Given the description of an element on the screen output the (x, y) to click on. 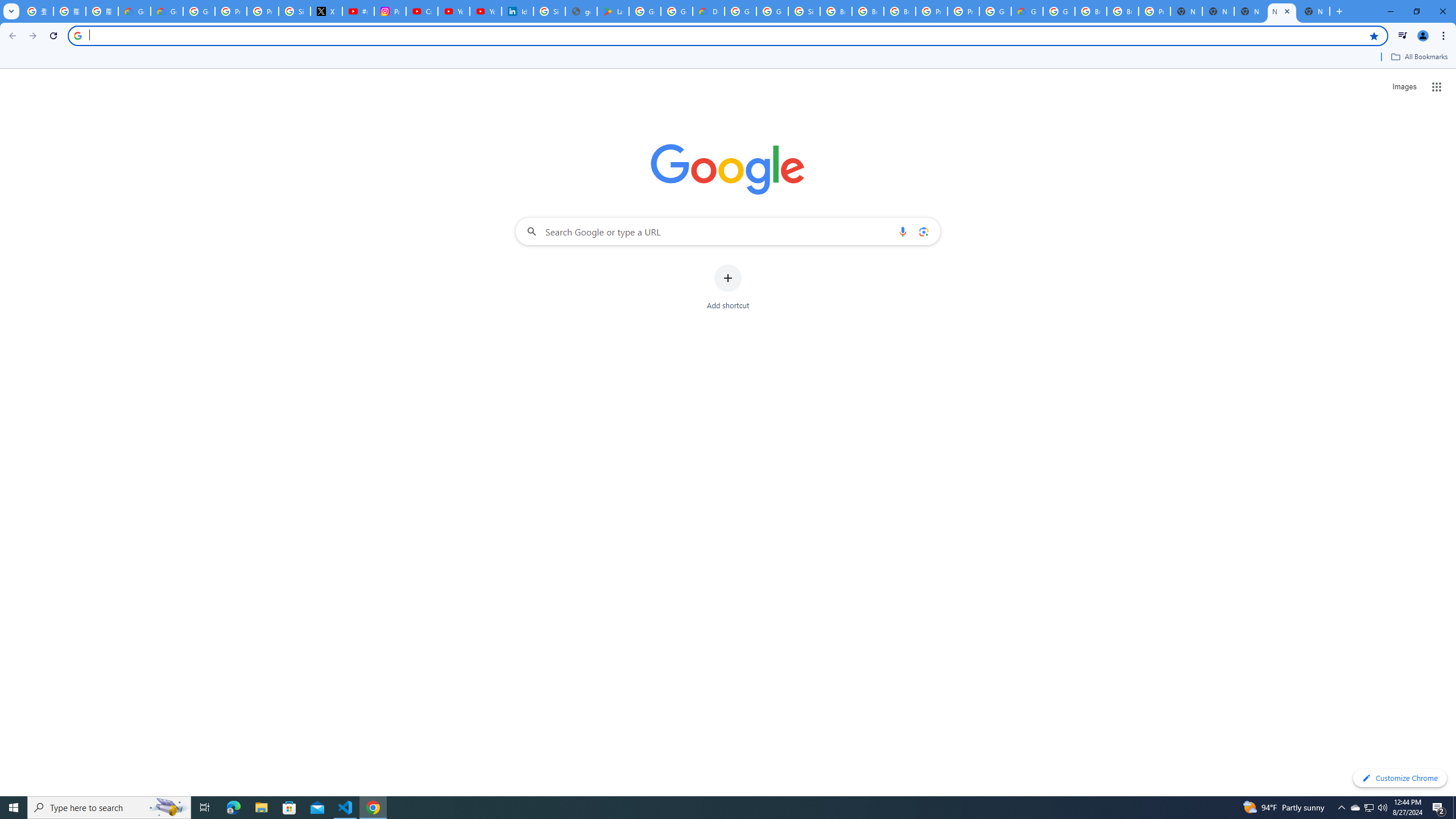
Browse Chrome as a guest - Computer - Google Chrome Help (1091, 11)
Privacy Help Center - Policies Help (262, 11)
Sign in - Google Accounts (804, 11)
Privacy Help Center - Policies Help (230, 11)
Google Cloud Platform (1059, 11)
Bookmarks (728, 58)
Google Cloud Estimate Summary (1027, 11)
